Given the description of an element on the screen output the (x, y) to click on. 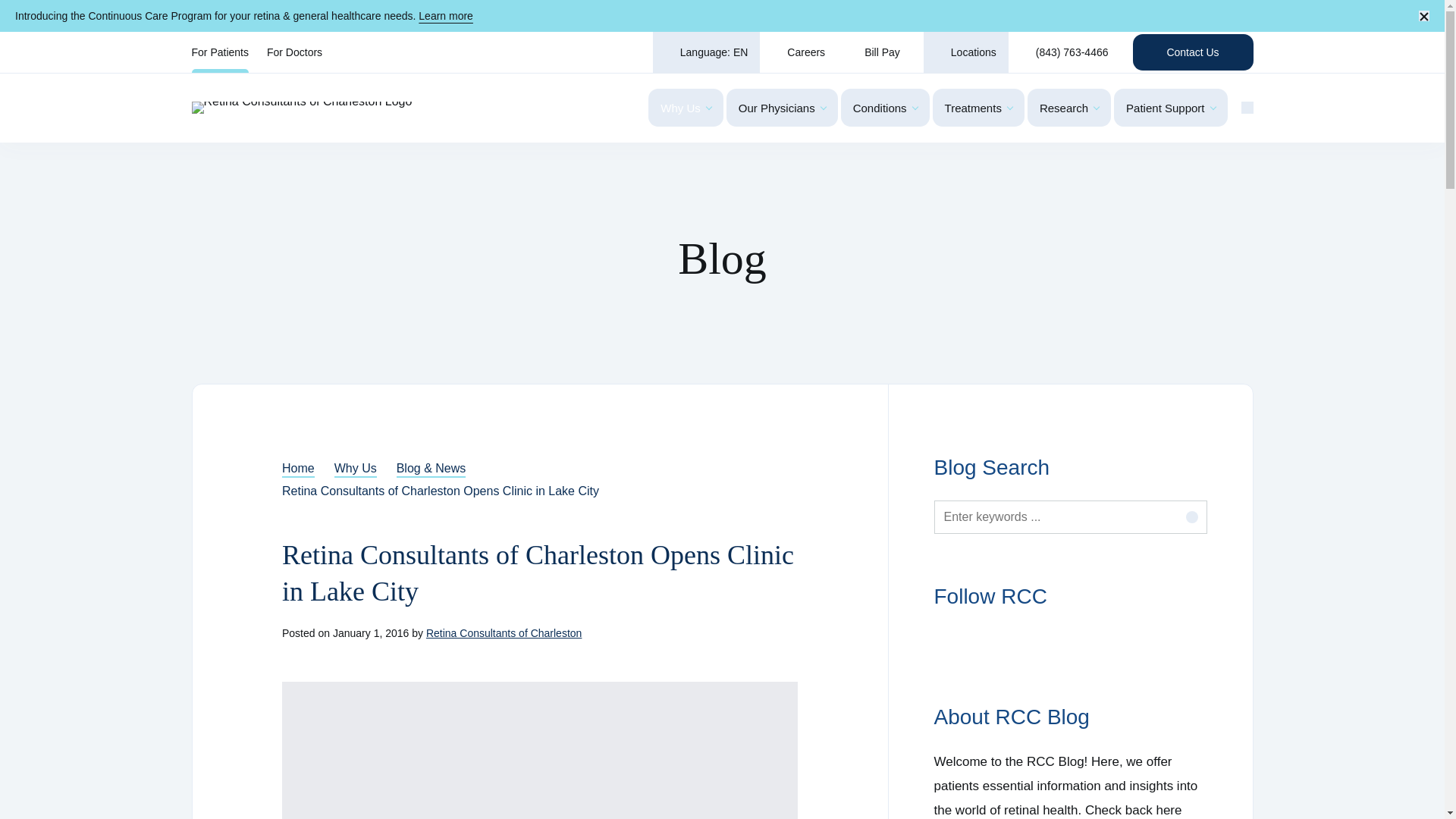
Careers (798, 51)
For Doctors (293, 51)
For Patients (218, 51)
Why Us (685, 107)
Bill Pay (880, 51)
Language: EN (706, 51)
Contact Us (1192, 52)
Learn more (446, 15)
Locations (966, 51)
